Given the description of an element on the screen output the (x, y) to click on. 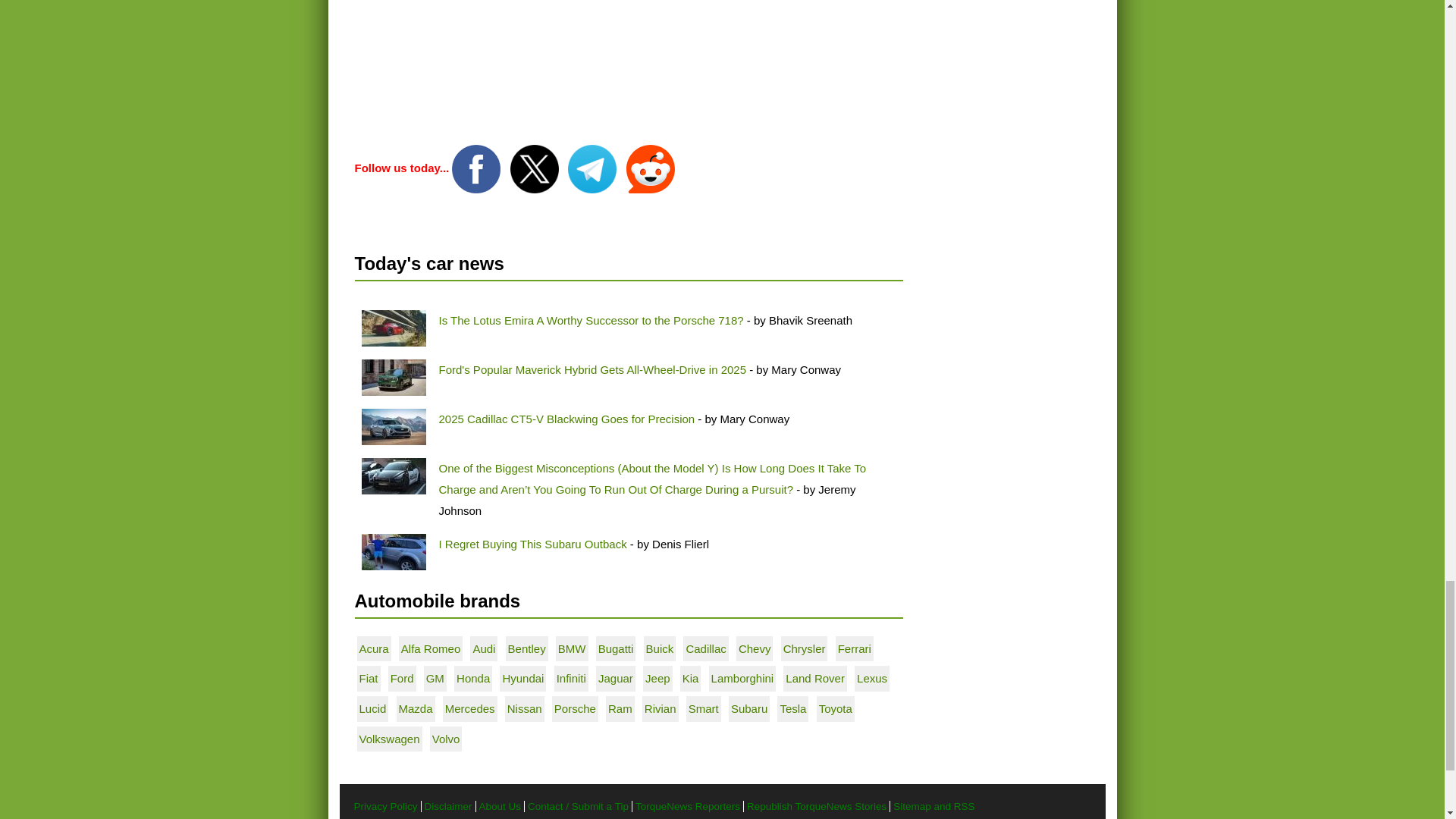
BMW (571, 648)
Ford's Popular Maverick Hybrid Gets All-Wheel-Drive in 2025 (591, 369)
Advertisement (629, 69)
Cadillac Photo (393, 426)
Alfa Romeo (430, 648)
2025 Cadillac CT5-V Blackwing Goes for Precision (566, 418)
Porsche 718 vs. Lotus Emira  (393, 328)
Denis Flierl with the 2014 Subaru Outback (393, 551)
Bentley (527, 648)
Acura (373, 648)
Join us on Telegram! (593, 166)
Bugatti (615, 648)
I Regret Buying This Subaru Outback (532, 543)
Is The Lotus Emira A Worthy Successor to the Porsche 718? (590, 319)
Audi (483, 648)
